Given the description of an element on the screen output the (x, y) to click on. 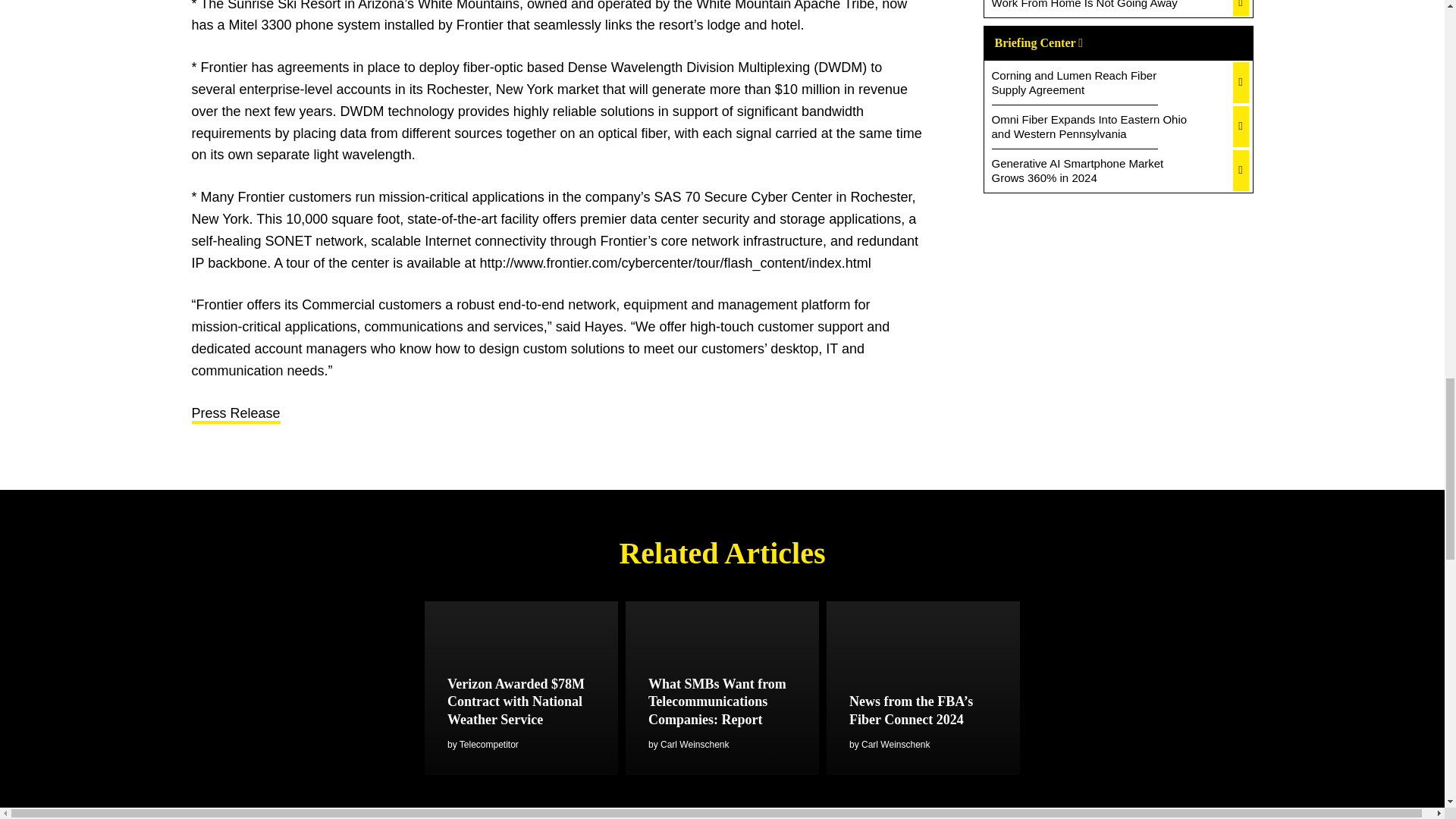
Frontier Press Release (234, 414)
